Given the description of an element on the screen output the (x, y) to click on. 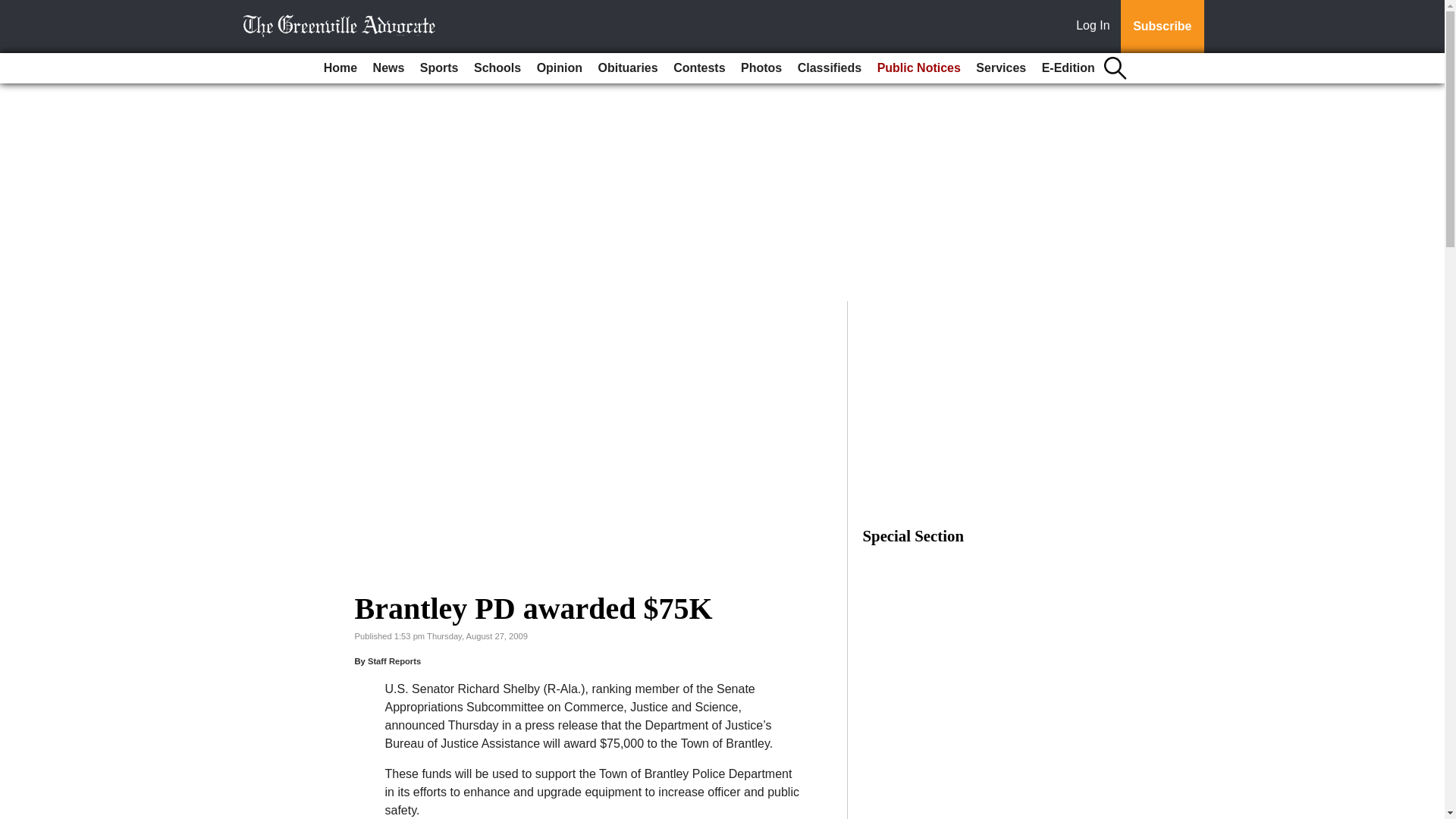
Photos (761, 68)
Subscribe (1162, 26)
Opinion (559, 68)
Public Notices (918, 68)
Classifieds (829, 68)
Staff Reports (394, 660)
Schools (497, 68)
Contests (698, 68)
Sports (438, 68)
News (388, 68)
Go (13, 9)
Home (339, 68)
E-Edition (1067, 68)
Log In (1095, 26)
Services (1000, 68)
